Given the description of an element on the screen output the (x, y) to click on. 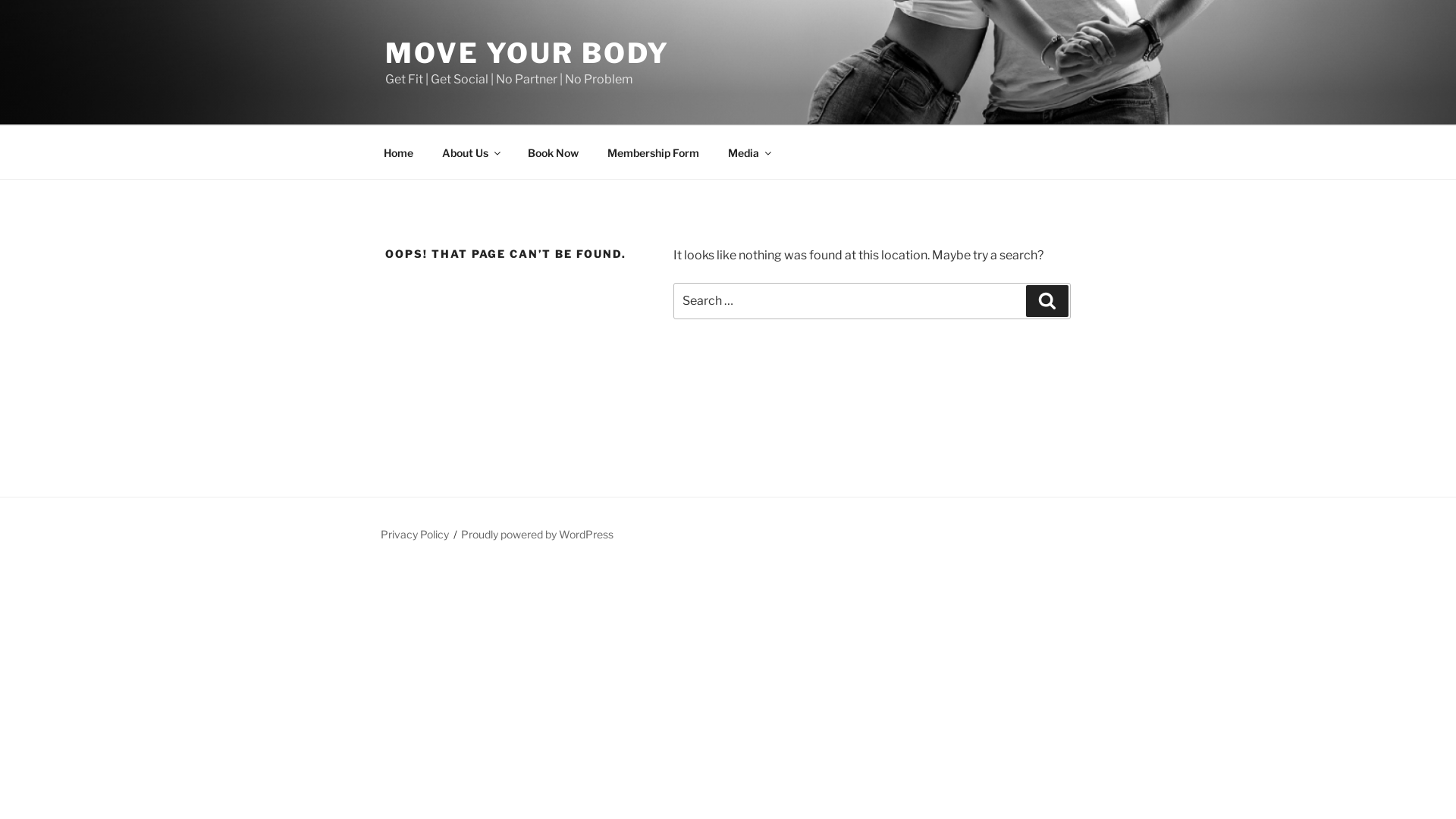
Media Element type: text (748, 151)
Book Now Element type: text (552, 151)
Membership Form Element type: text (652, 151)
About Us Element type: text (469, 151)
Search Element type: text (1047, 300)
MOVE YOUR BODY Element type: text (527, 52)
Home Element type: text (398, 151)
Privacy Policy Element type: text (414, 533)
Proudly powered by WordPress Element type: text (537, 533)
